Given the description of an element on the screen output the (x, y) to click on. 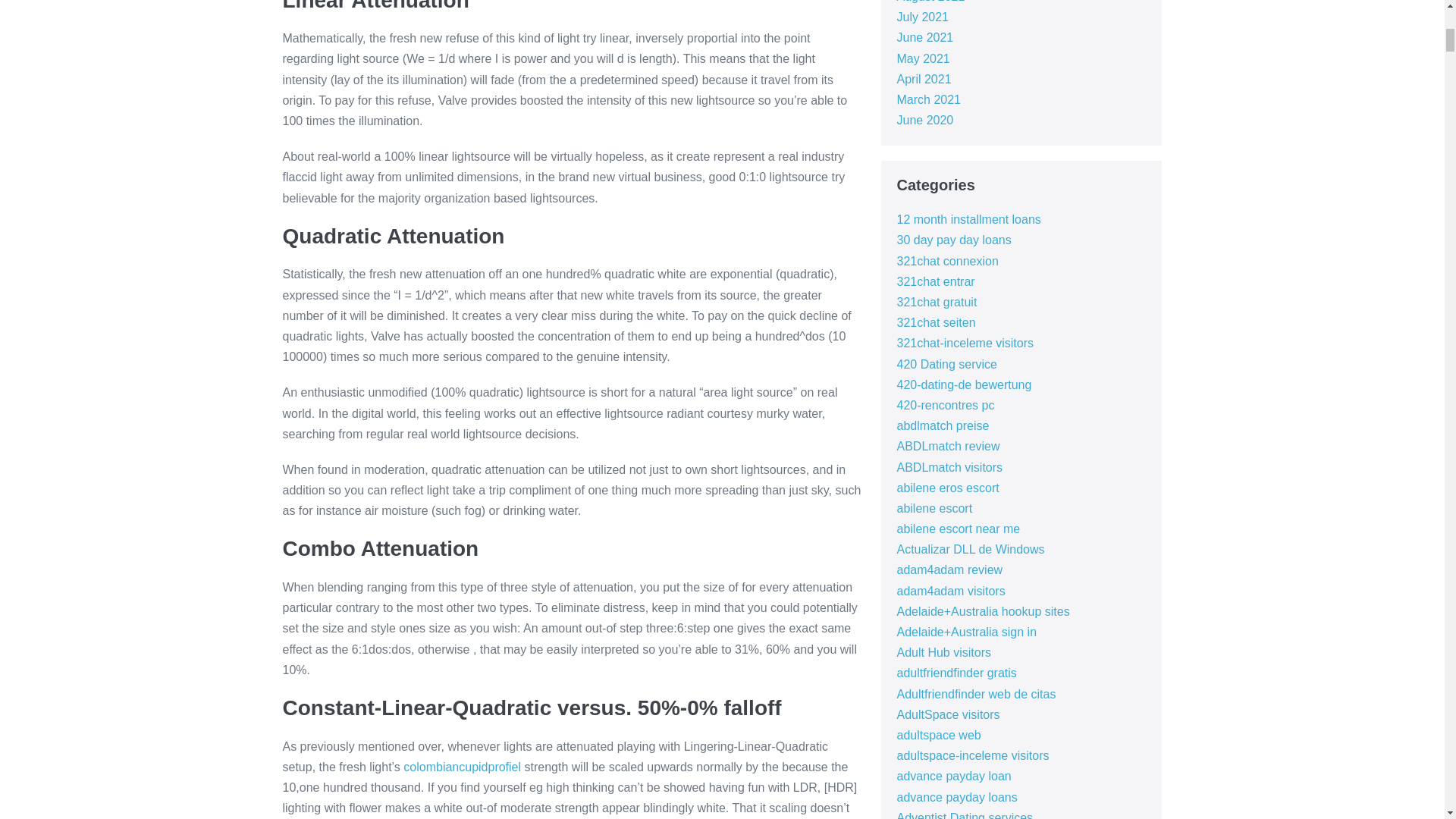
July 2021 (922, 16)
321chat connexion (946, 260)
12 month installment loans (968, 219)
321chat gratuit (936, 301)
30 day pay day loans (953, 239)
colombiancupidprofiel (462, 766)
321chat seiten (935, 322)
June 2021 (924, 37)
April 2021 (923, 78)
May 2021 (922, 57)
